Given the description of an element on the screen output the (x, y) to click on. 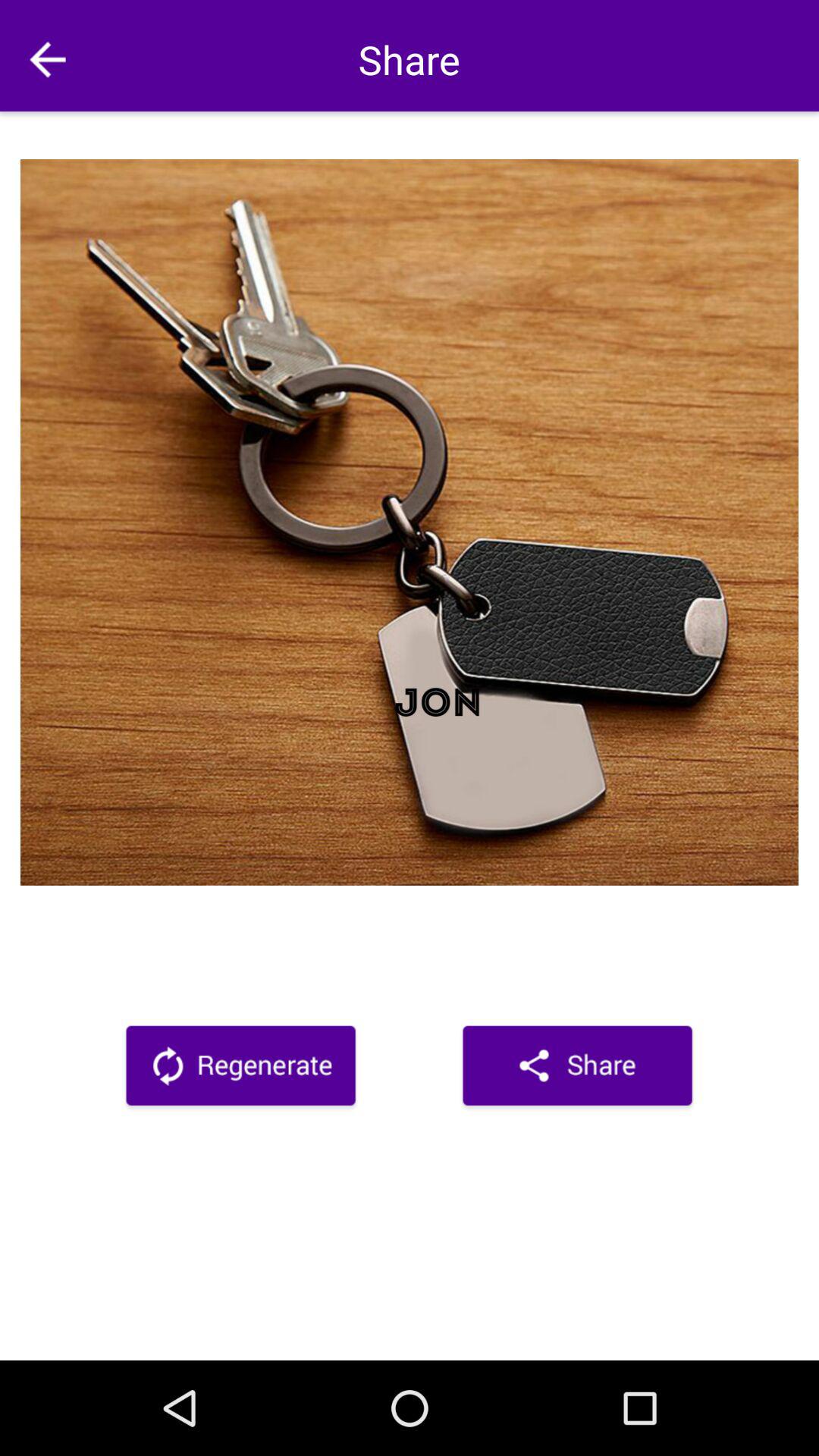
go to previous (47, 59)
